Given the description of an element on the screen output the (x, y) to click on. 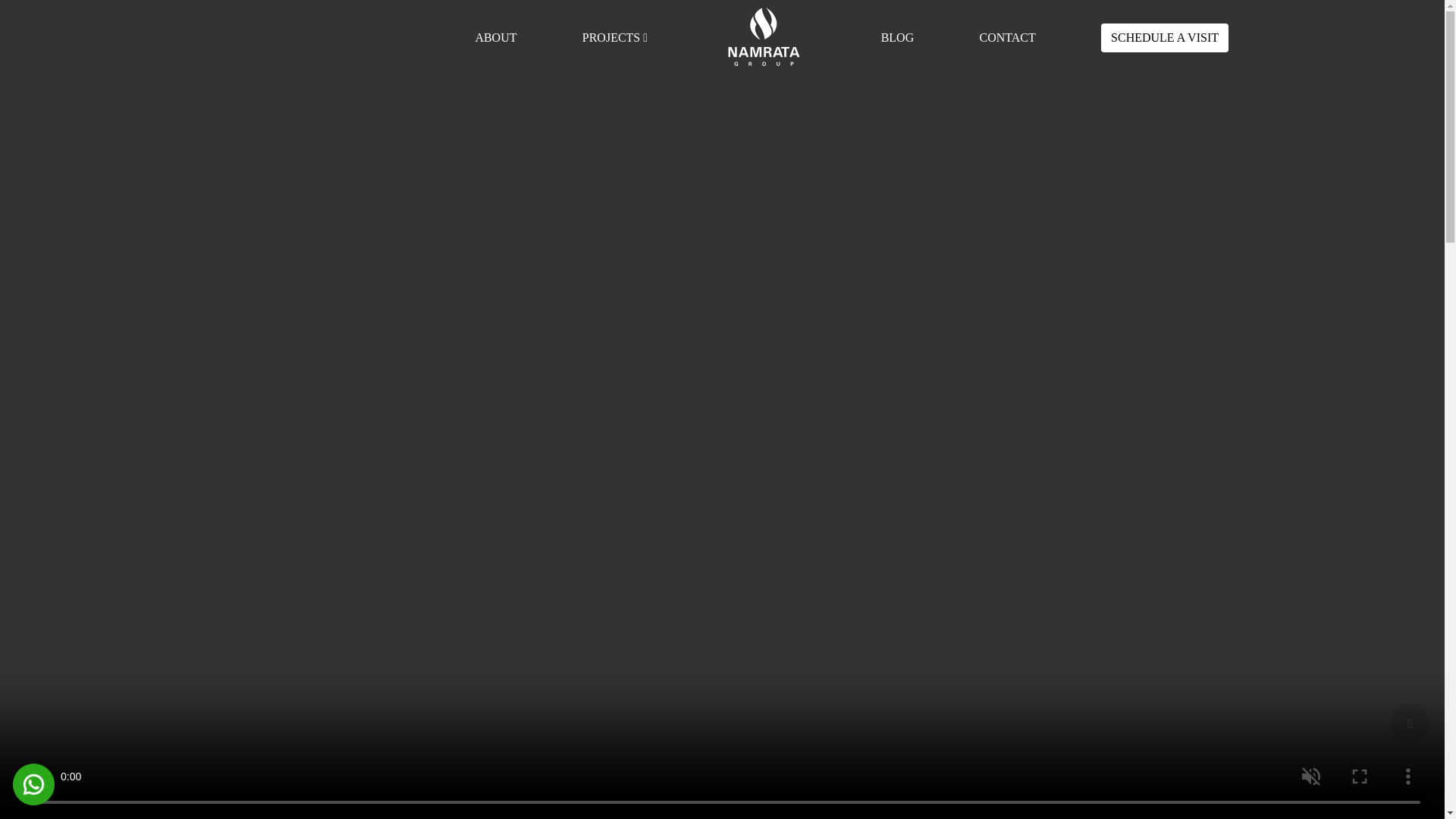
SCHEDULE A VISIT (1164, 36)
BLOG (897, 36)
ABOUT (495, 36)
PROJECTS (612, 36)
CONTACT (1007, 36)
